Given the description of an element on the screen output the (x, y) to click on. 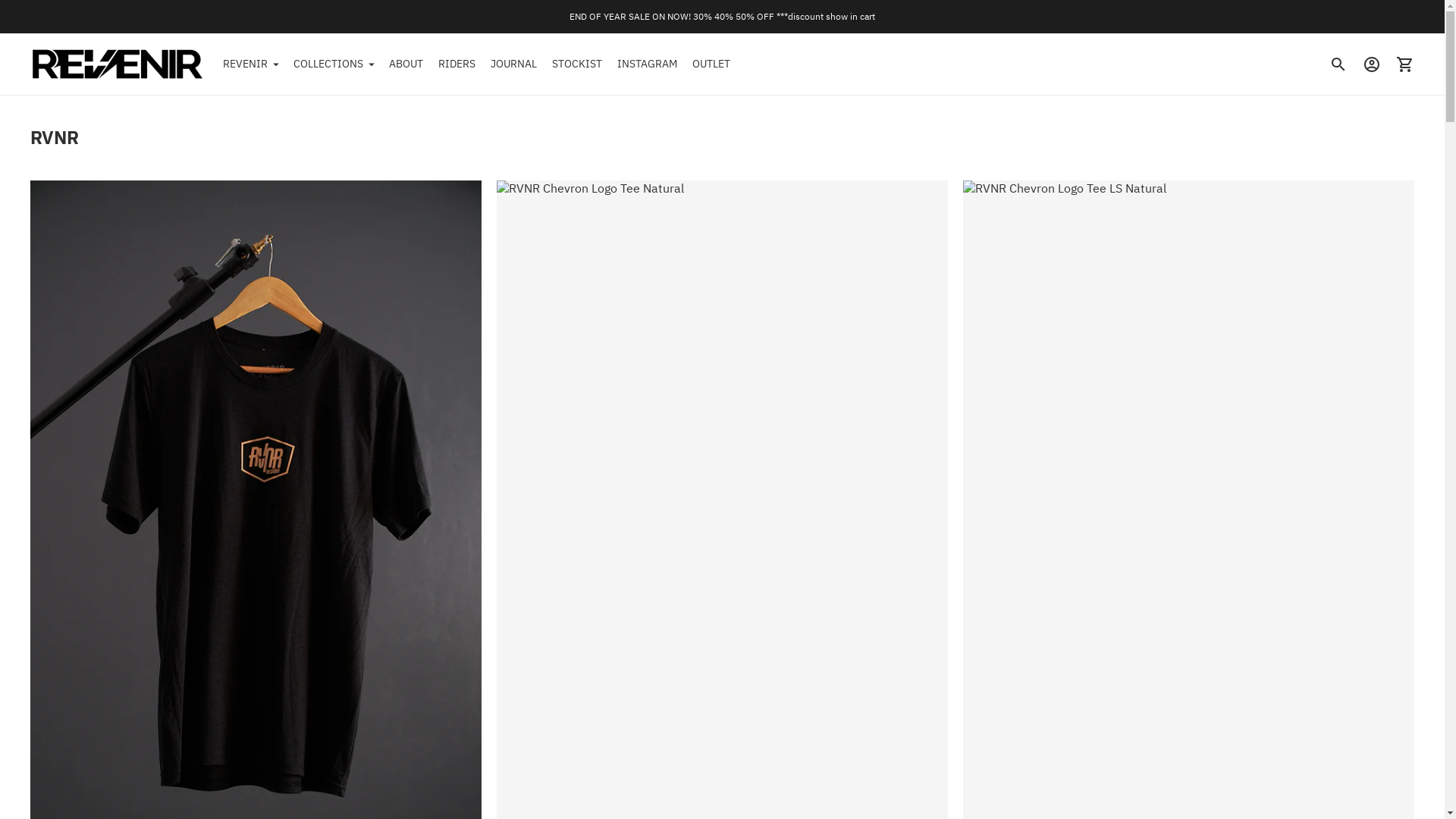
ABOUT Element type: text (406, 64)
INSTAGRAM Element type: text (647, 64)
COLLECTIONS Element type: text (333, 64)
JOURNAL Element type: text (513, 64)
Search Element type: hover (1338, 64)
Account Element type: hover (1371, 64)
STOCKIST Element type: text (577, 64)
Cart Element type: hover (1404, 64)
REVENIR Element type: text (250, 64)
OUTLET Element type: text (711, 64)
RIDERS Element type: text (456, 64)
